Given the description of an element on the screen output the (x, y) to click on. 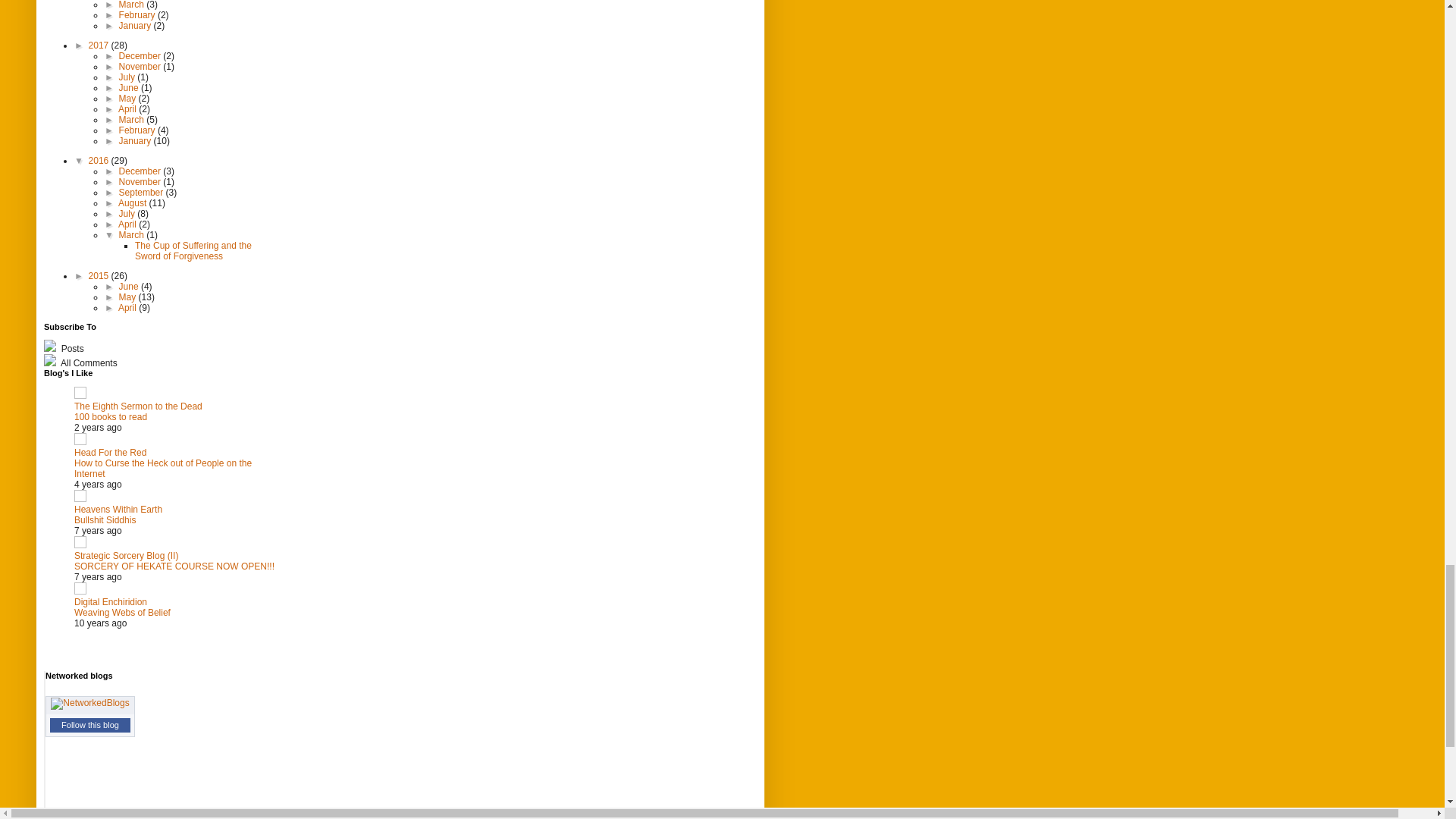
NetworkedBlogs (89, 703)
NetworkedBlogs (89, 702)
